Given the description of an element on the screen output the (x, y) to click on. 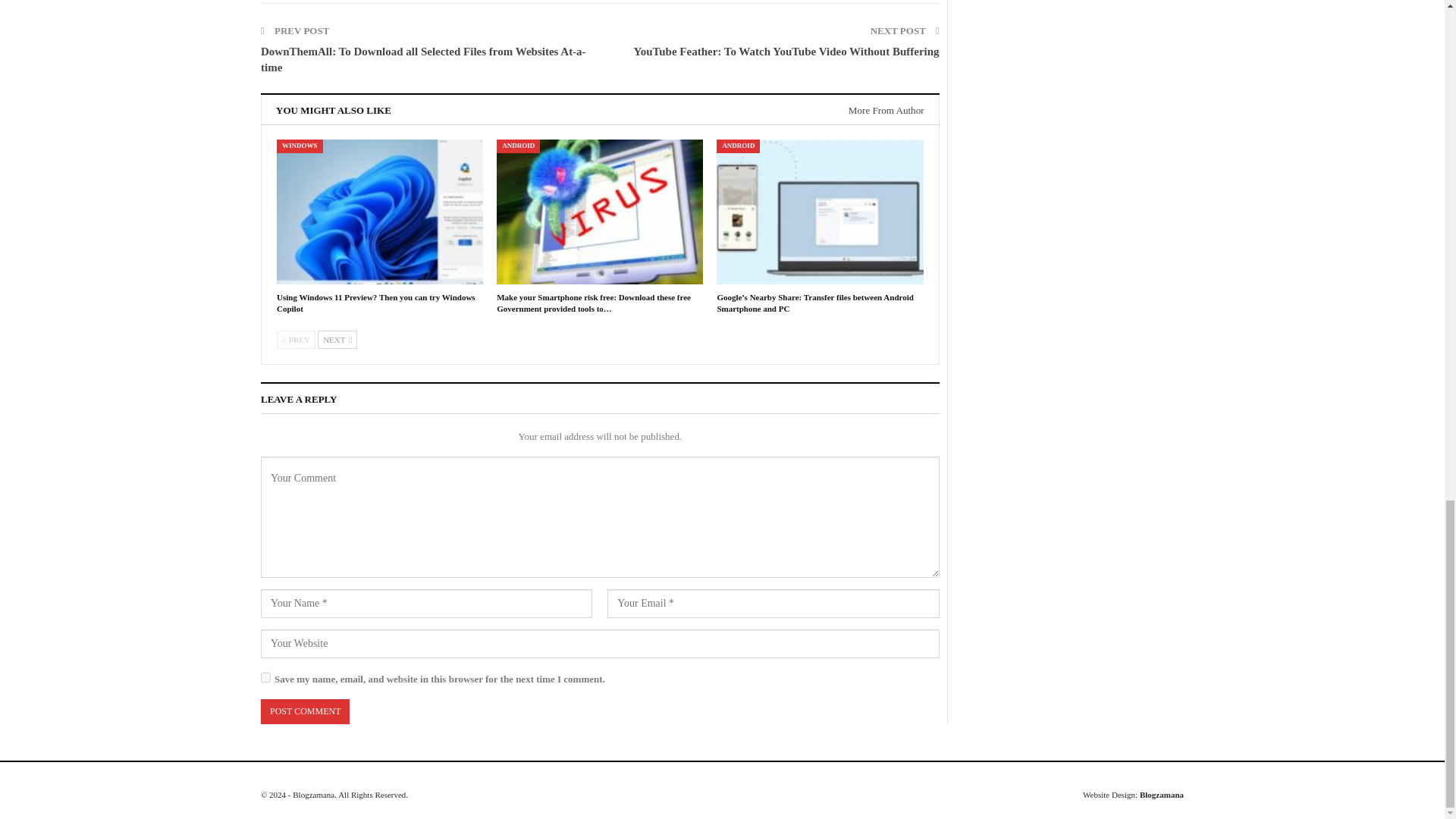
Previous (295, 339)
Using Windows 11 Preview? Then you can try Windows Copilot (376, 302)
Using Windows 11 Preview? Then you can try Windows Copilot (379, 211)
Post Comment (304, 711)
yes (265, 677)
